Given the description of an element on the screen output the (x, y) to click on. 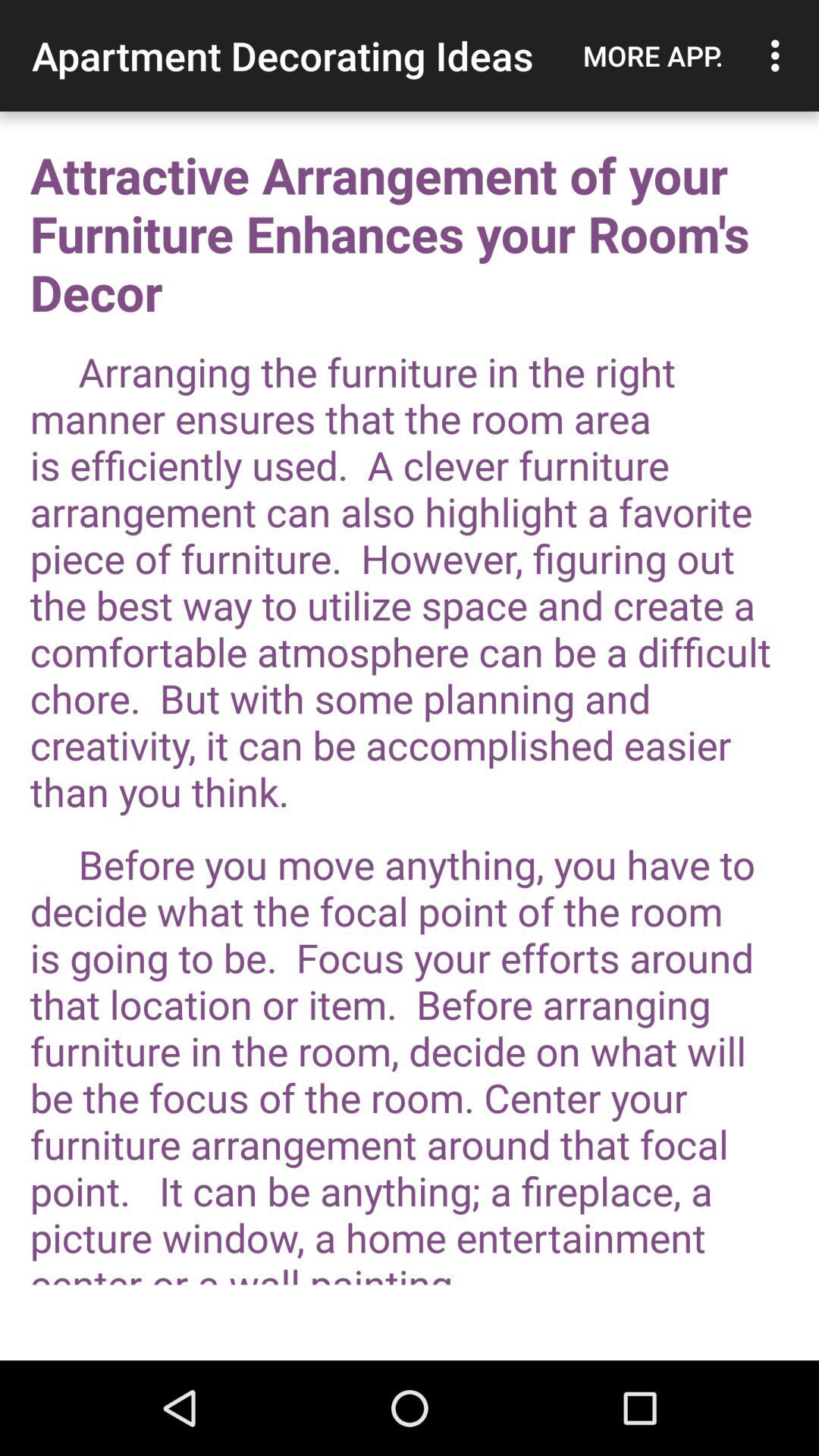
select the icon to the right of more app. (779, 55)
